Given the description of an element on the screen output the (x, y) to click on. 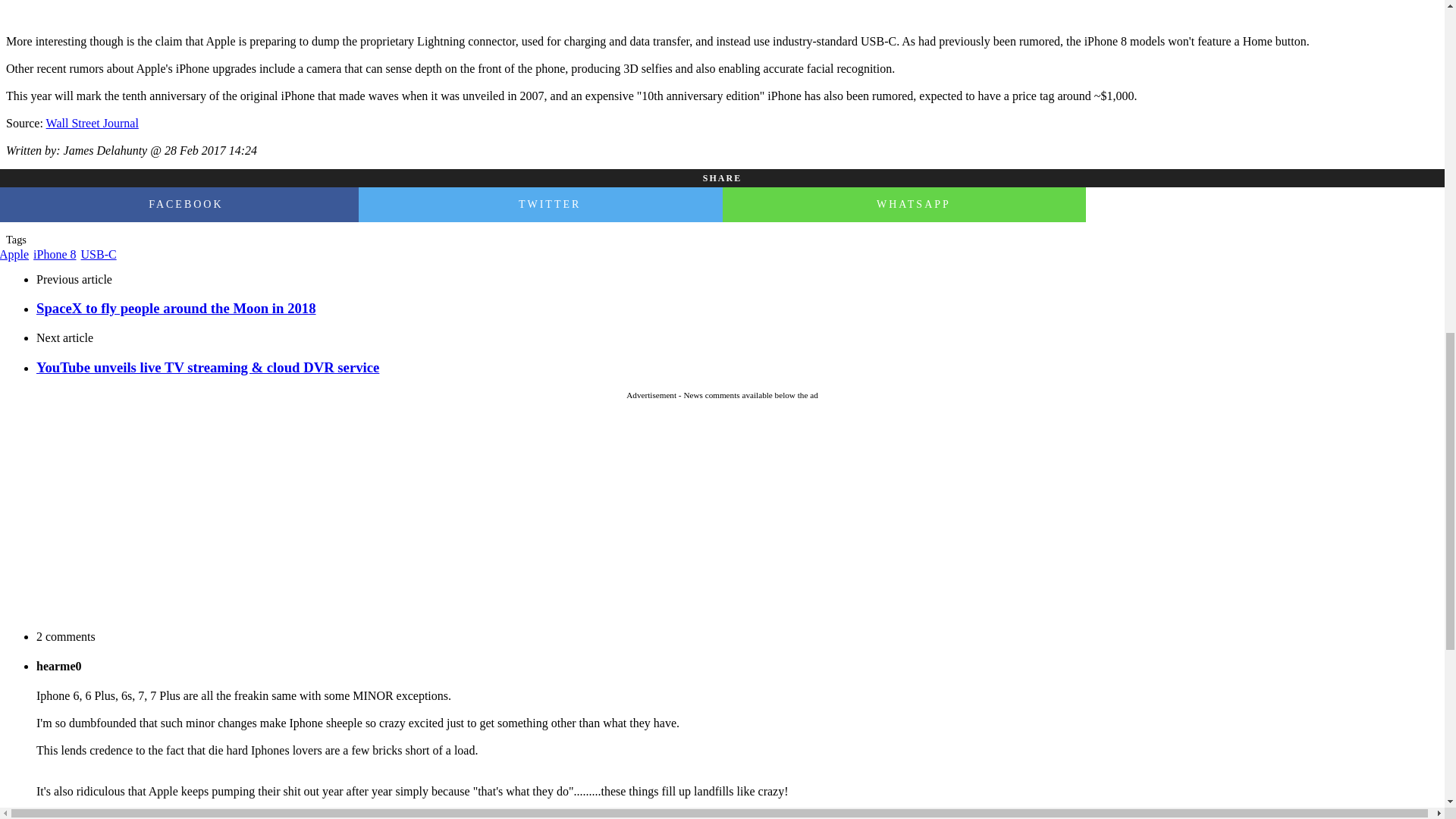
SpaceX to fly people around the Moon in 2018 (737, 308)
USB-C (98, 254)
iPhone 8 (54, 254)
Apple (14, 254)
Wall Street Journal (92, 123)
FACEBOOK (179, 204)
TWITTER (540, 204)
WHATSAPP (904, 204)
Advertisement (721, 517)
